Given the description of an element on the screen output the (x, y) to click on. 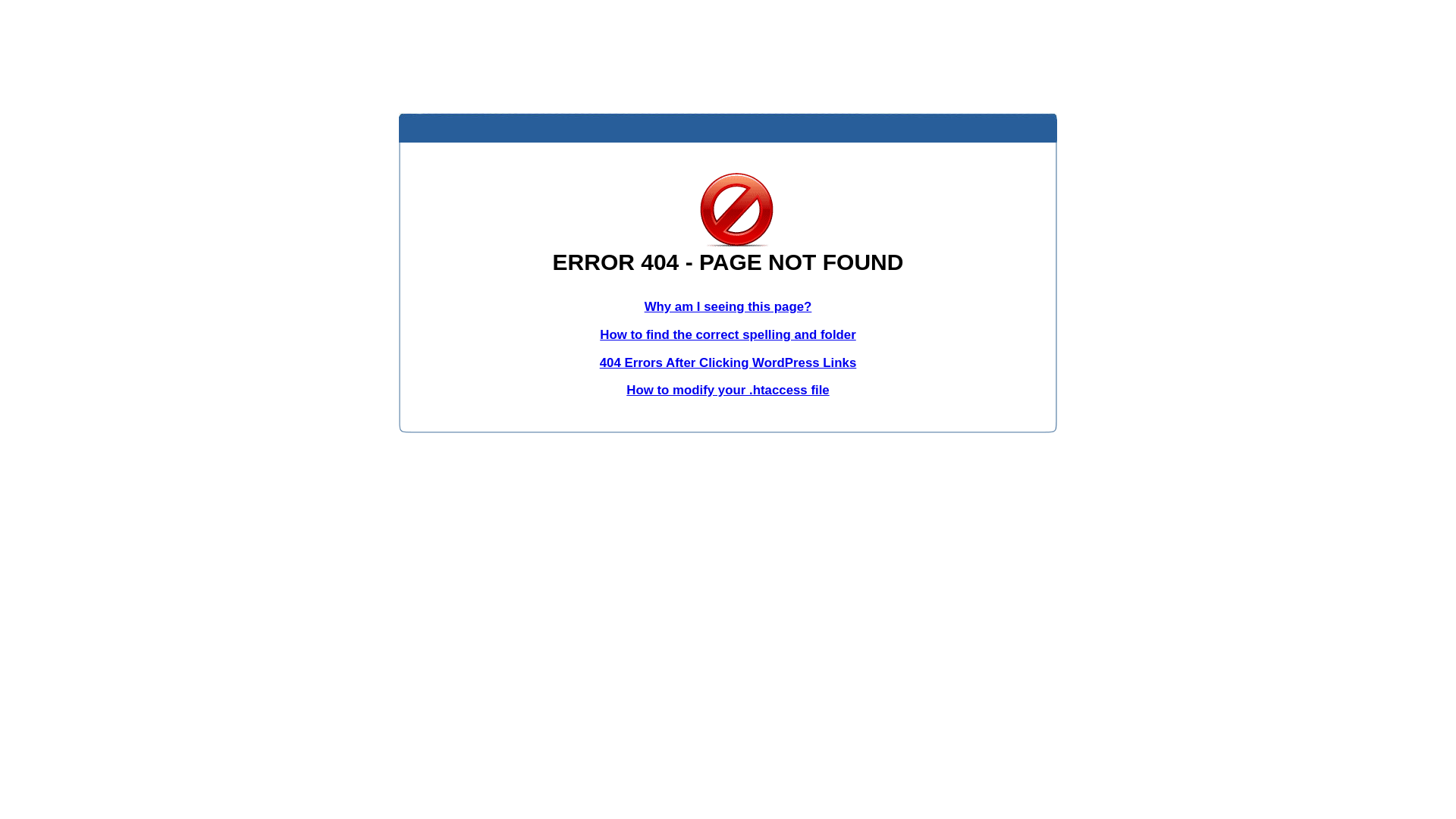
How to modify your .htaccess file Element type: text (727, 389)
404 Errors After Clicking WordPress Links Element type: text (727, 362)
Why am I seeing this page? Element type: text (728, 306)
How to find the correct spelling and folder Element type: text (727, 334)
